Given the description of an element on the screen output the (x, y) to click on. 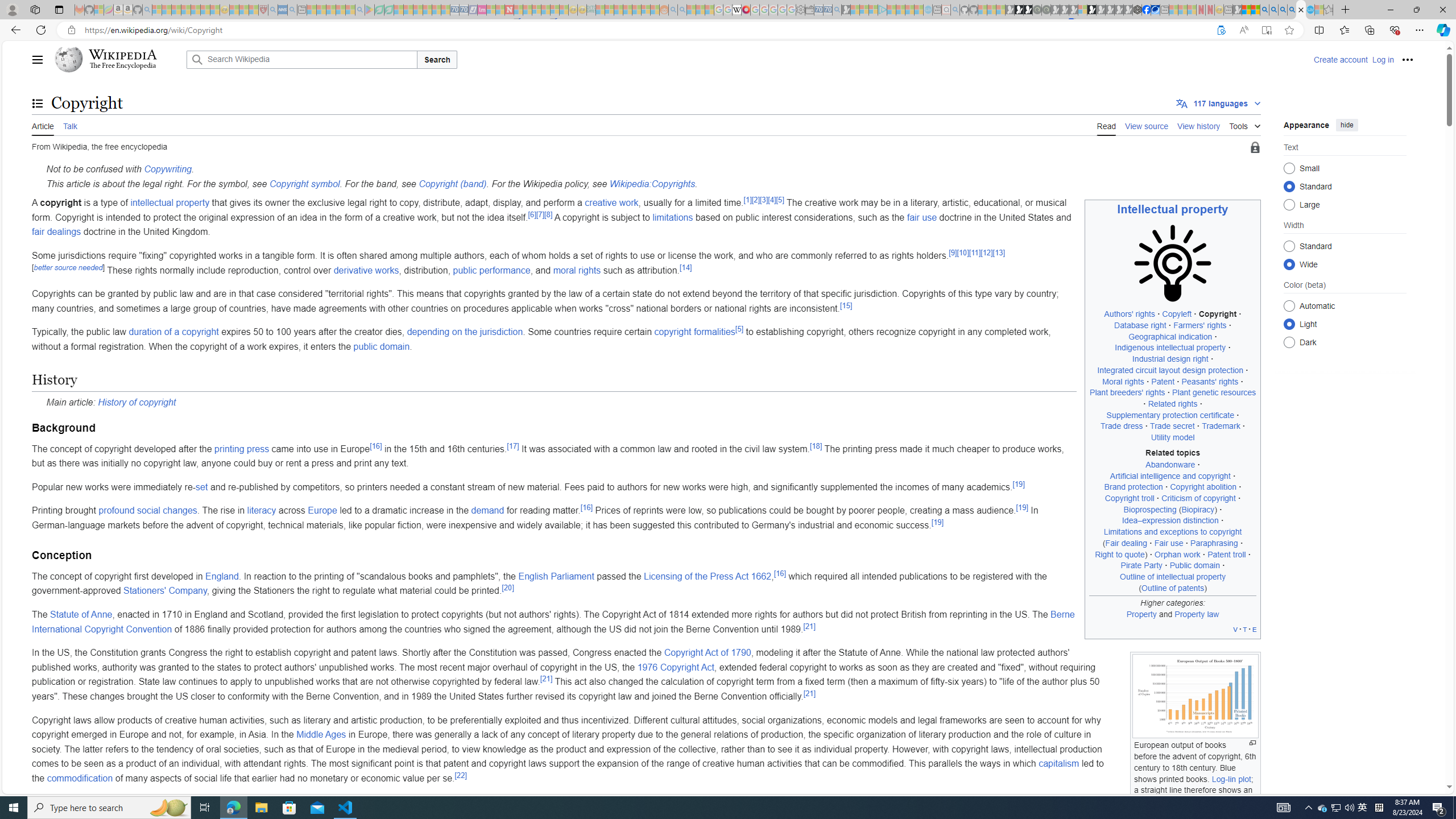
Nordace | Facebook (1146, 9)
Search Wikipedia (301, 59)
Dark (1289, 341)
Copyright symbol (304, 183)
Target page - Wikipedia (736, 9)
literacy (261, 510)
[15] (846, 304)
[14] (684, 266)
google - Search - Sleeping (359, 9)
[12] (985, 252)
Main menu (37, 59)
View history (1198, 124)
